Given the description of an element on the screen output the (x, y) to click on. 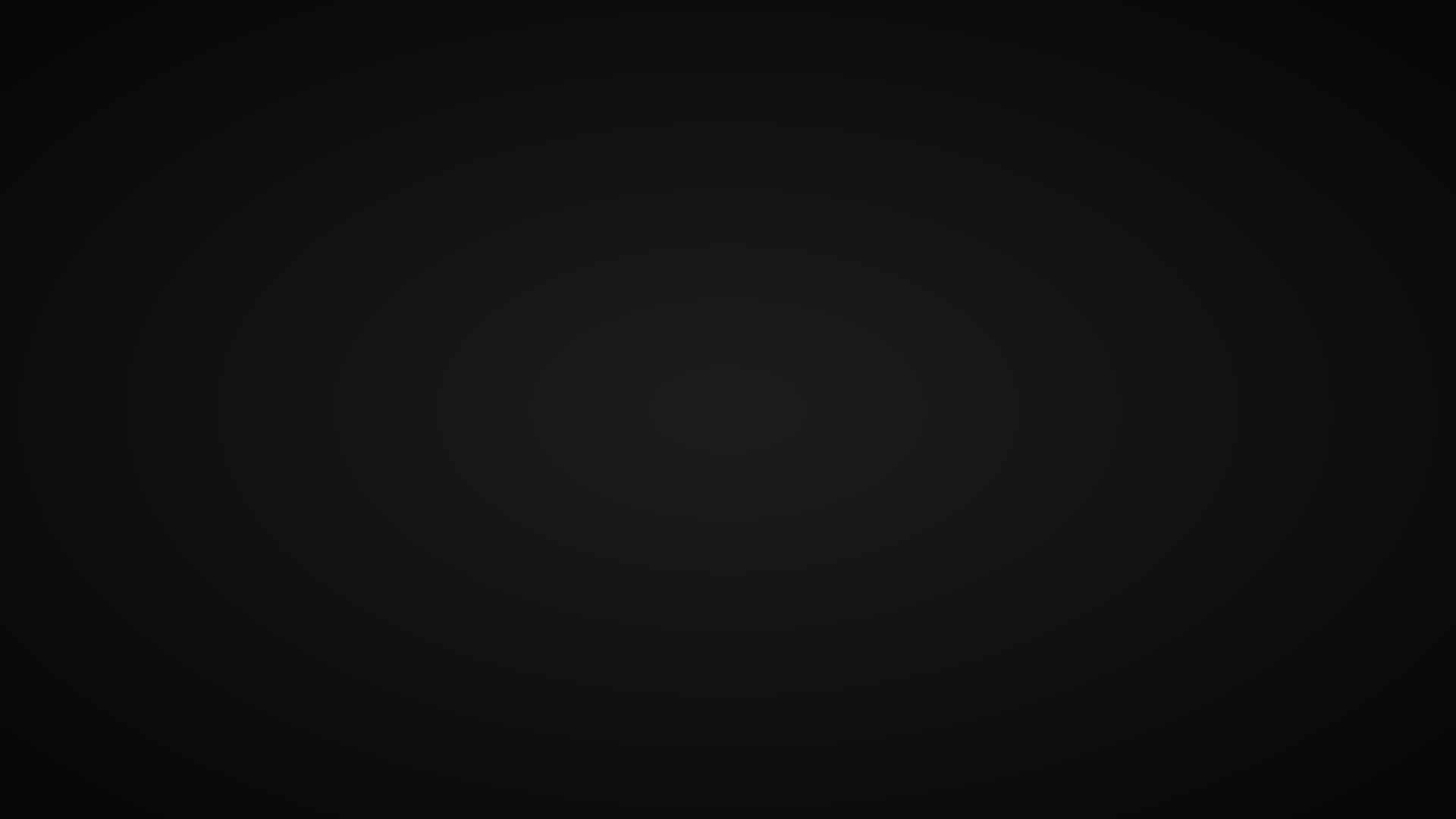
PANOPLANNING (103, 41)
HOME (908, 41)
ABOUT US (976, 41)
CONTACT (1314, 41)
TESTIMONIAL (1225, 41)
PROJECTS (1055, 41)
BENEFITS (1135, 41)
BLOG (1379, 41)
PREV (65, 439)
NEXT (1390, 439)
BACK TO TOP (727, 572)
